Given the description of an element on the screen output the (x, y) to click on. 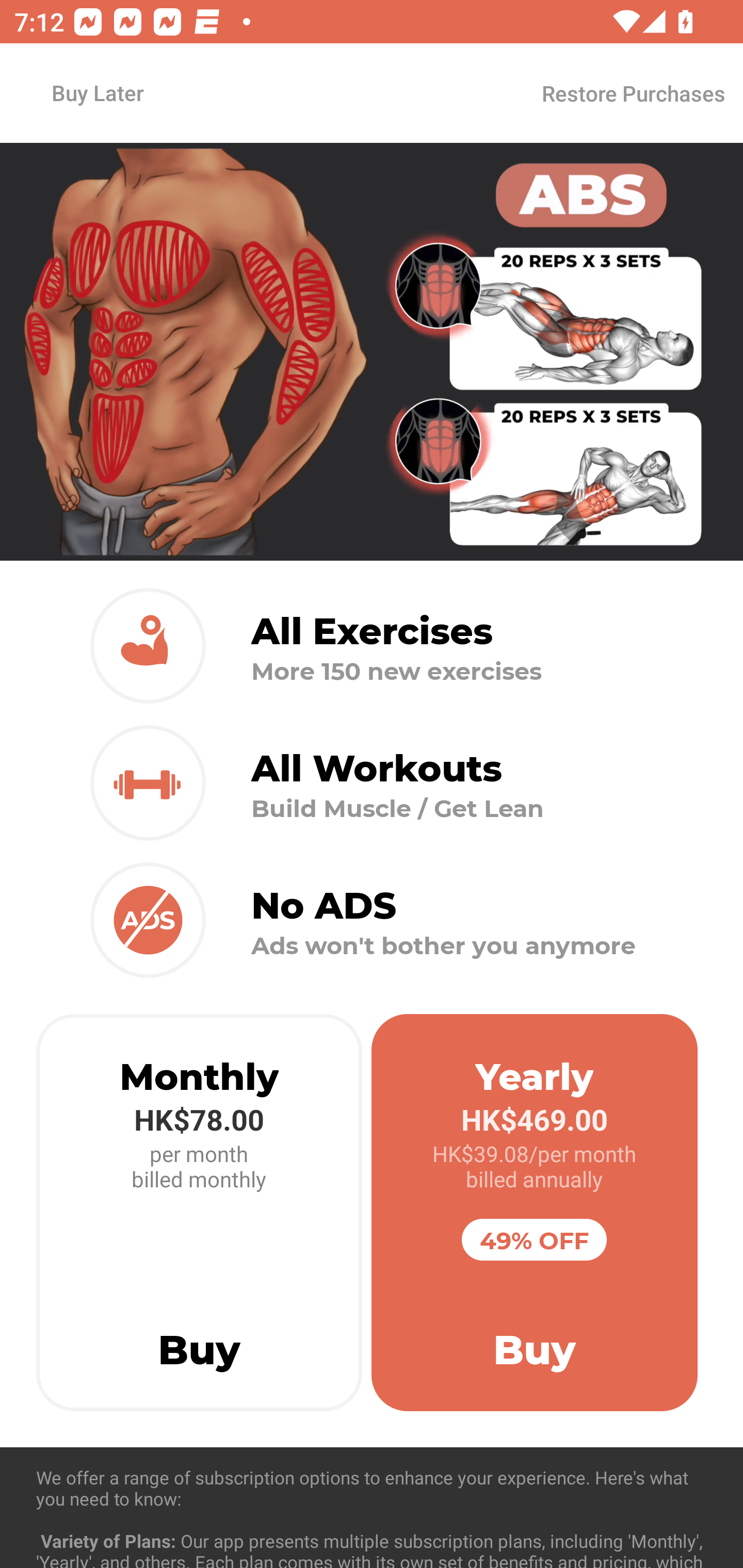
Restore Purchases (632, 92)
Buy Later (96, 92)
Monthly HK$78.00 per month
billed monthly Buy (199, 1212)
